Given the description of an element on the screen output the (x, y) to click on. 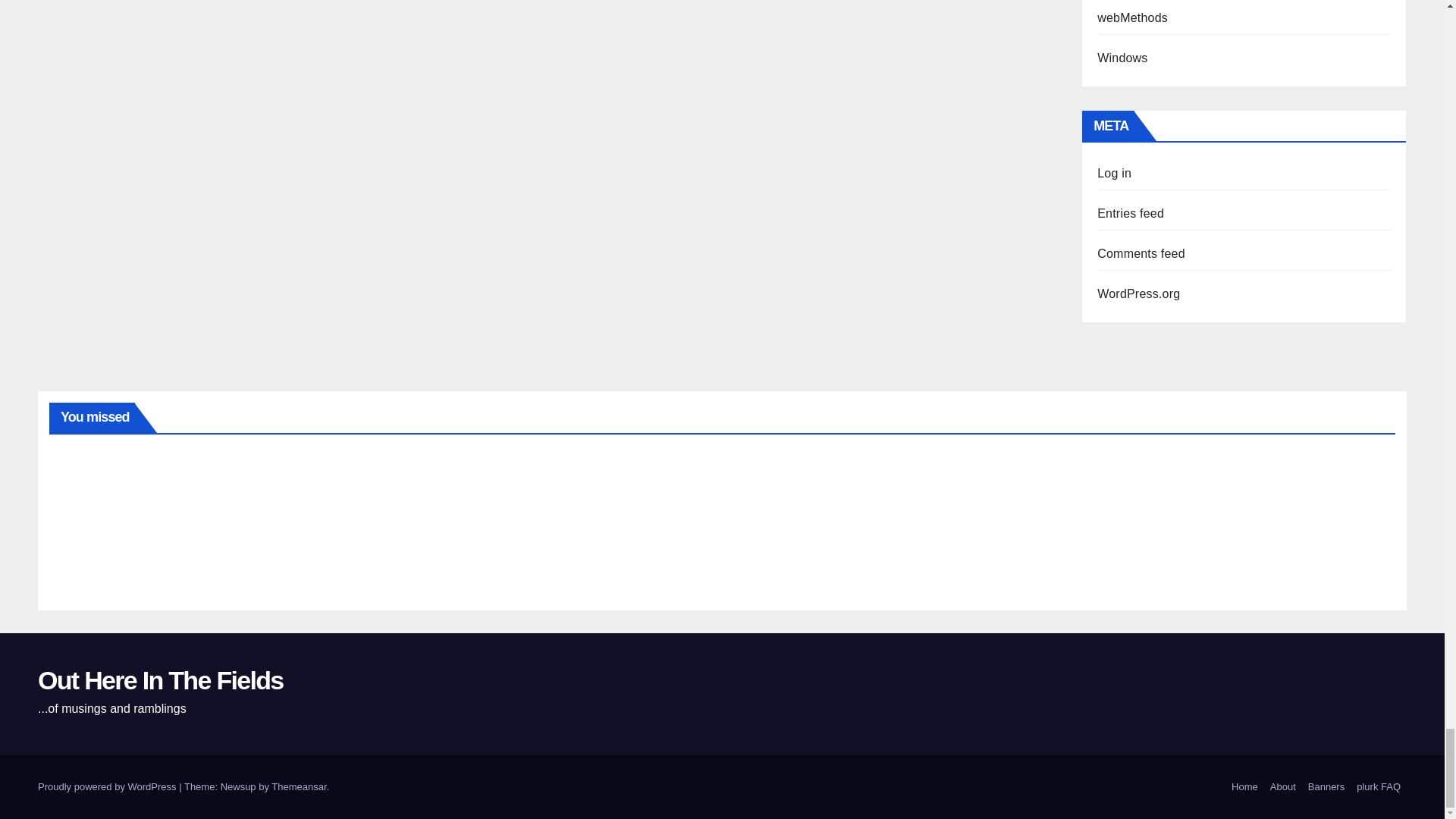
Home (1244, 786)
